Given the description of an element on the screen output the (x, y) to click on. 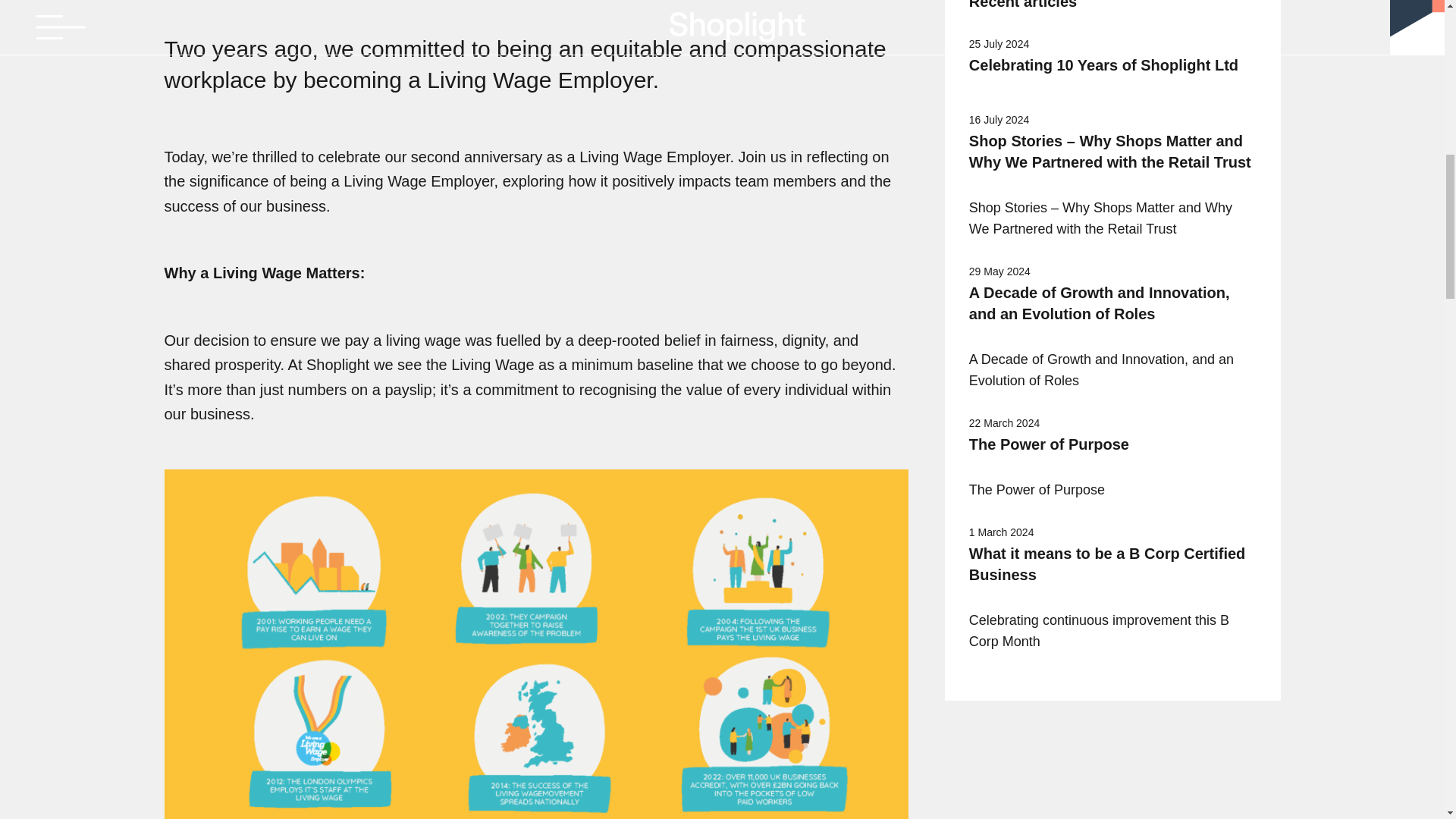
Living Wage Employer (654, 156)
Celebrating 10 Years of Shoplight Ltd (1112, 65)
A Decade of Growth and Innovation, and an Evolution of Roles (1112, 302)
What it means to be a B Corp Certified Business (1112, 563)
The Power of Purpose (1112, 444)
